Given the description of an element on the screen output the (x, y) to click on. 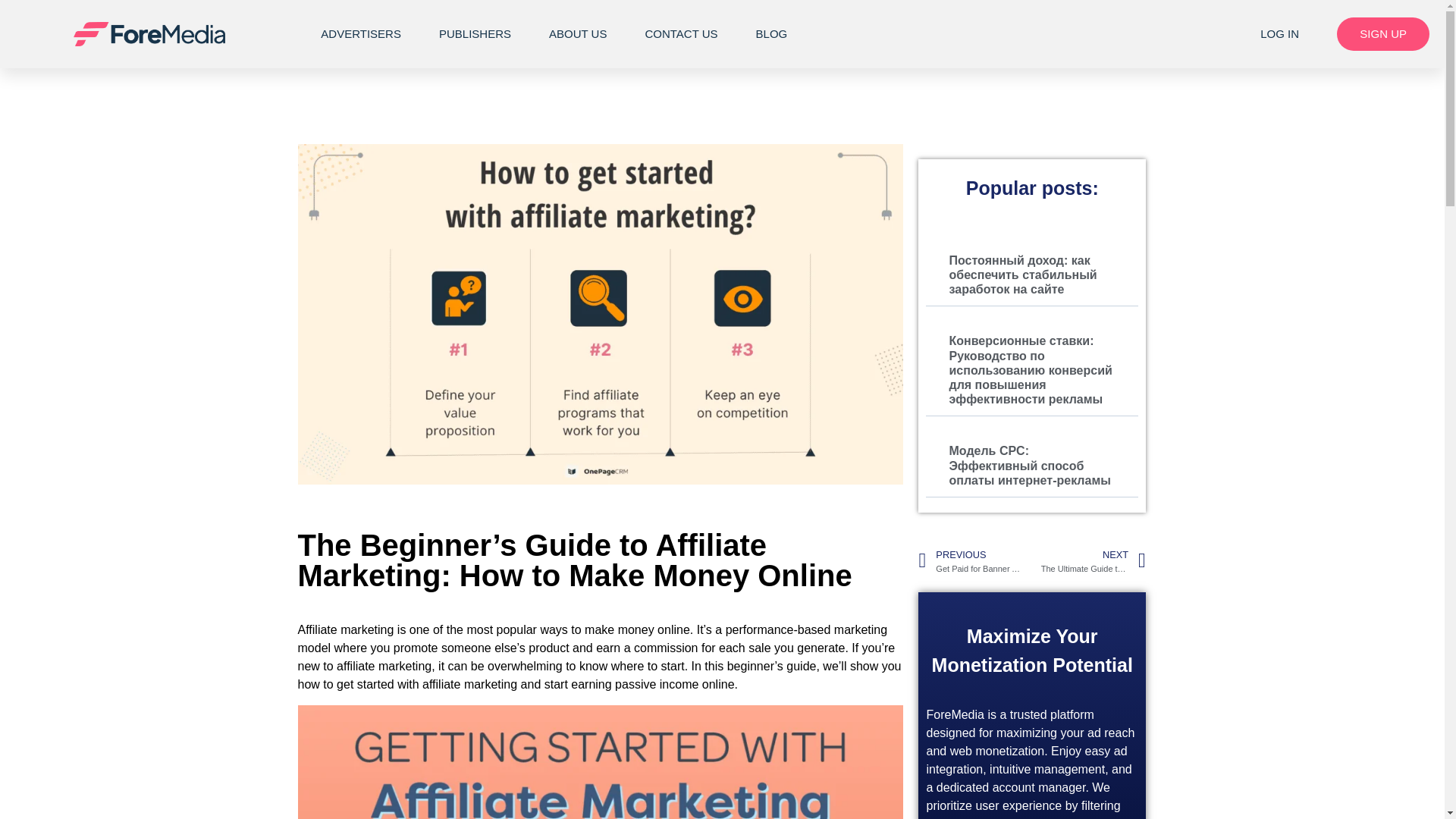
LOG IN (1279, 33)
ABOUT US (577, 33)
PUBLISHERS (475, 33)
BLOG (771, 33)
SIGN UP (1382, 33)
CONTACT US (681, 33)
ADVERTISERS (360, 33)
